Given the description of an element on the screen output the (x, y) to click on. 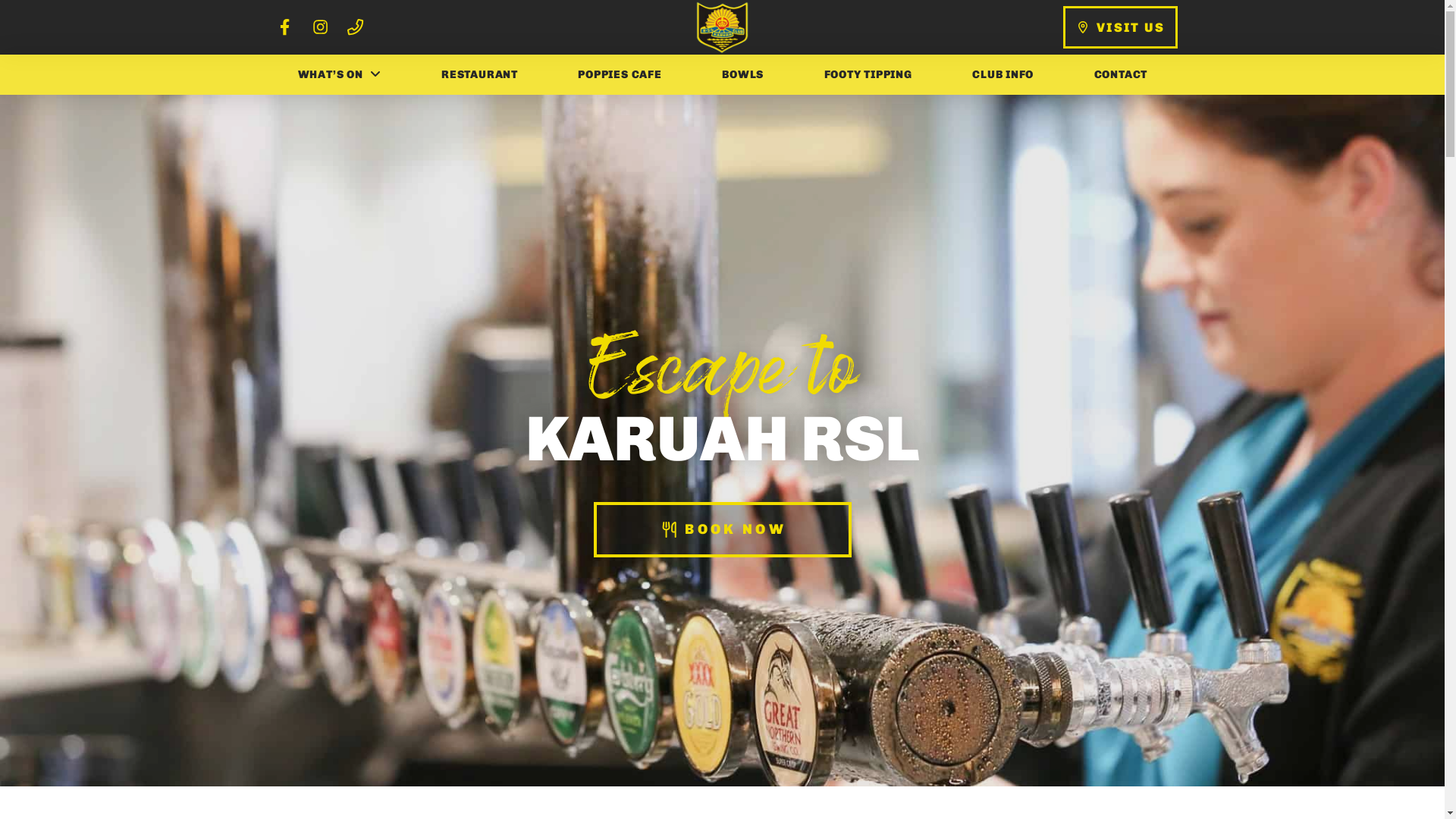
RESTAURANT Element type: text (479, 74)
CONTACT Element type: text (1120, 74)
BOWLS Element type: text (742, 74)
FOOTY TIPPING Element type: text (867, 74)
POPPIES CAFE Element type: text (619, 74)
BOOK NOW Element type: text (721, 529)
CLUB INFO Element type: text (1002, 74)
VISIT US Element type: text (1120, 27)
